Given the description of an element on the screen output the (x, y) to click on. 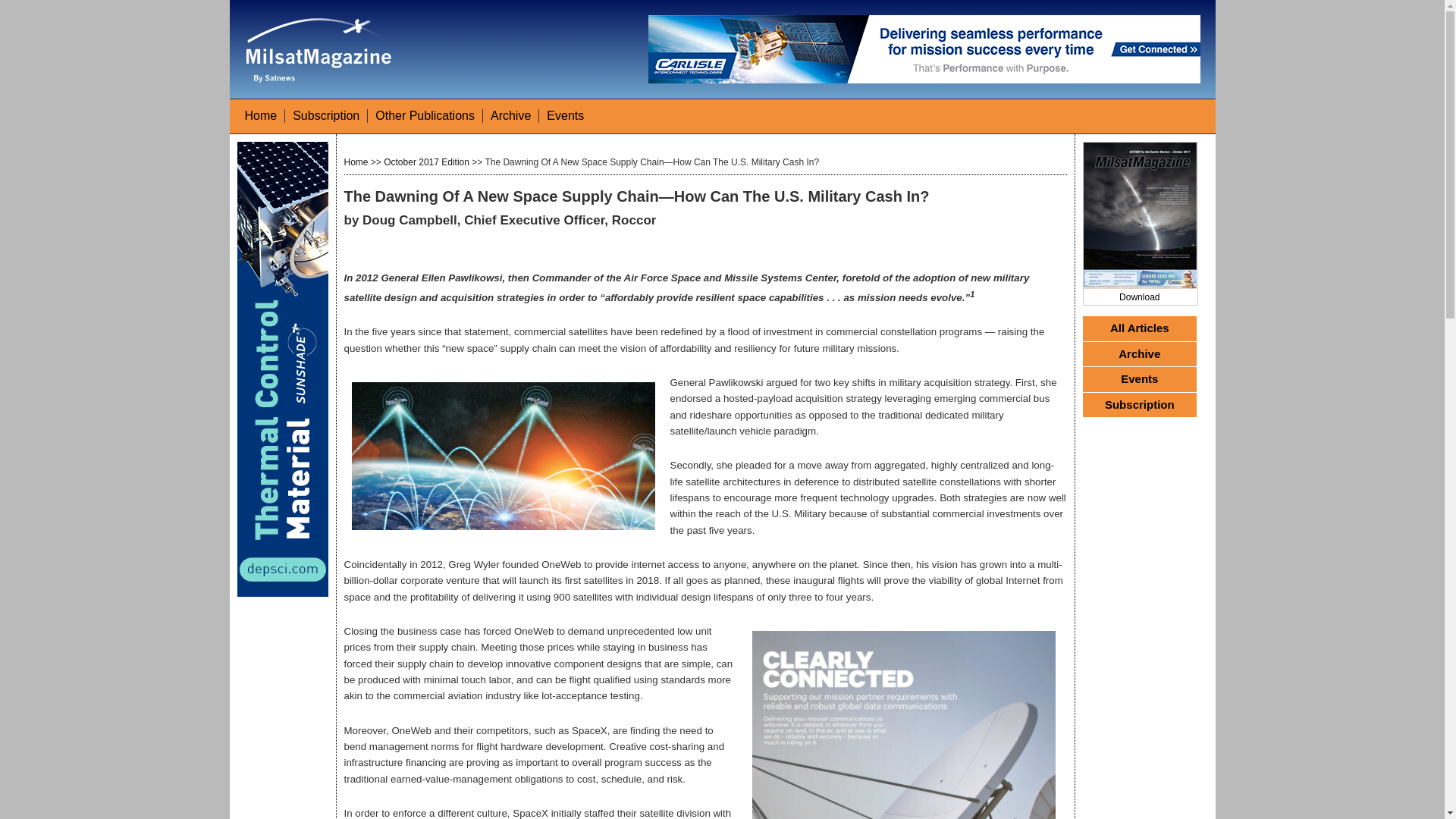
Other Publications (424, 115)
Archive (510, 115)
Home (355, 162)
October 2017 Edition (426, 162)
Events (565, 115)
Subscription (325, 115)
Home (260, 115)
